Given the description of an element on the screen output the (x, y) to click on. 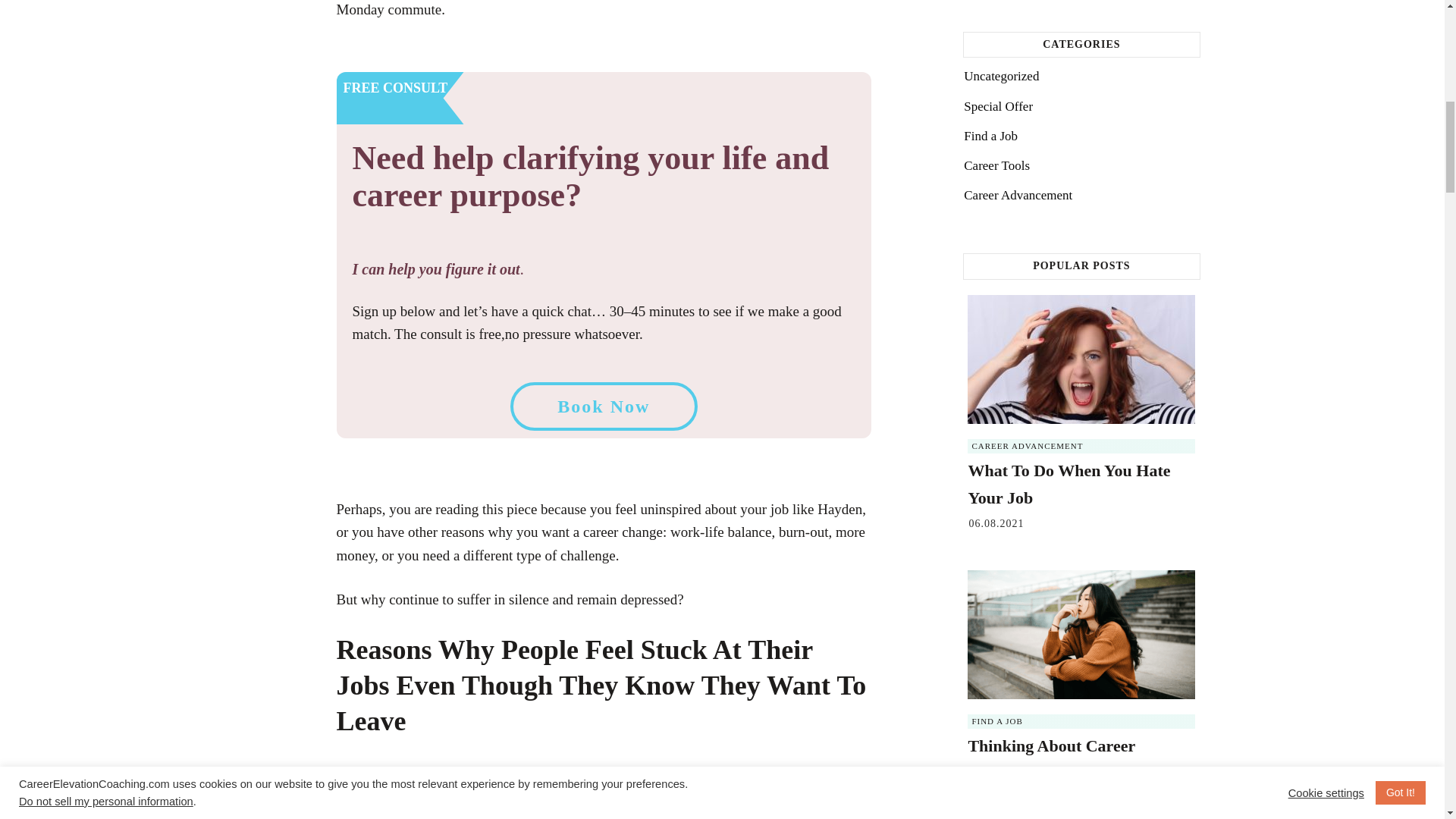
Find a Job (996, 720)
Career Tools (996, 165)
Career Advancement (1017, 195)
CAREER ADVANCEMENT (1027, 445)
What To Do When You Hate Your Job (1069, 483)
Ready for Change2 (534, 794)
Special Offer (997, 106)
Book Now (604, 406)
Uncategorized (1001, 76)
What To Do When You Hate Your Job (1069, 483)
